Given the description of an element on the screen output the (x, y) to click on. 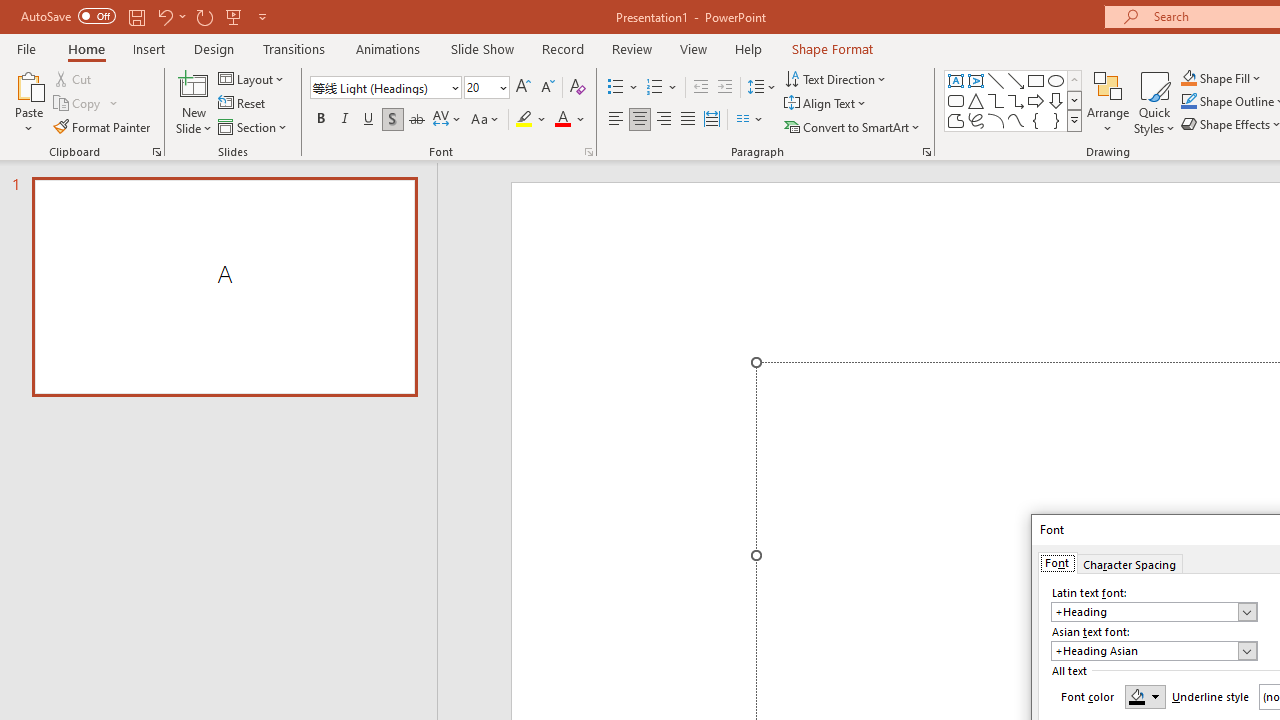
Text Direction (836, 78)
Align Left (616, 119)
Justify (687, 119)
Clear Formatting (577, 87)
Font... (588, 151)
Cut (73, 78)
Character Spacing (1129, 562)
Bullets (616, 87)
AutomationID: ShapesInsertGallery (1014, 100)
Left Brace (1035, 120)
Decrease Indent (700, 87)
